Given the description of an element on the screen output the (x, y) to click on. 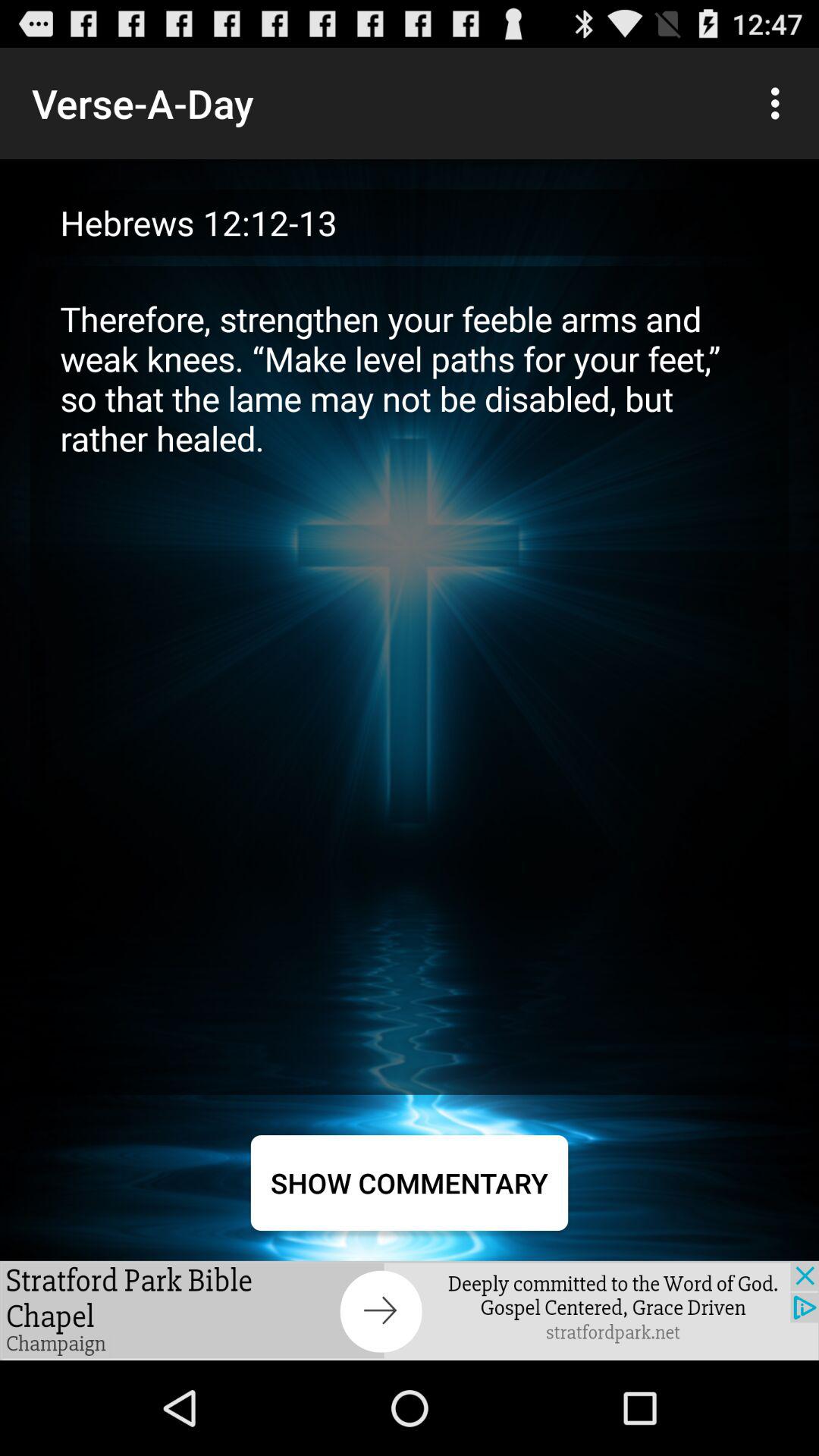
tap the icon to the right of the verse-a-day (779, 103)
